Given the description of an element on the screen output the (x, y) to click on. 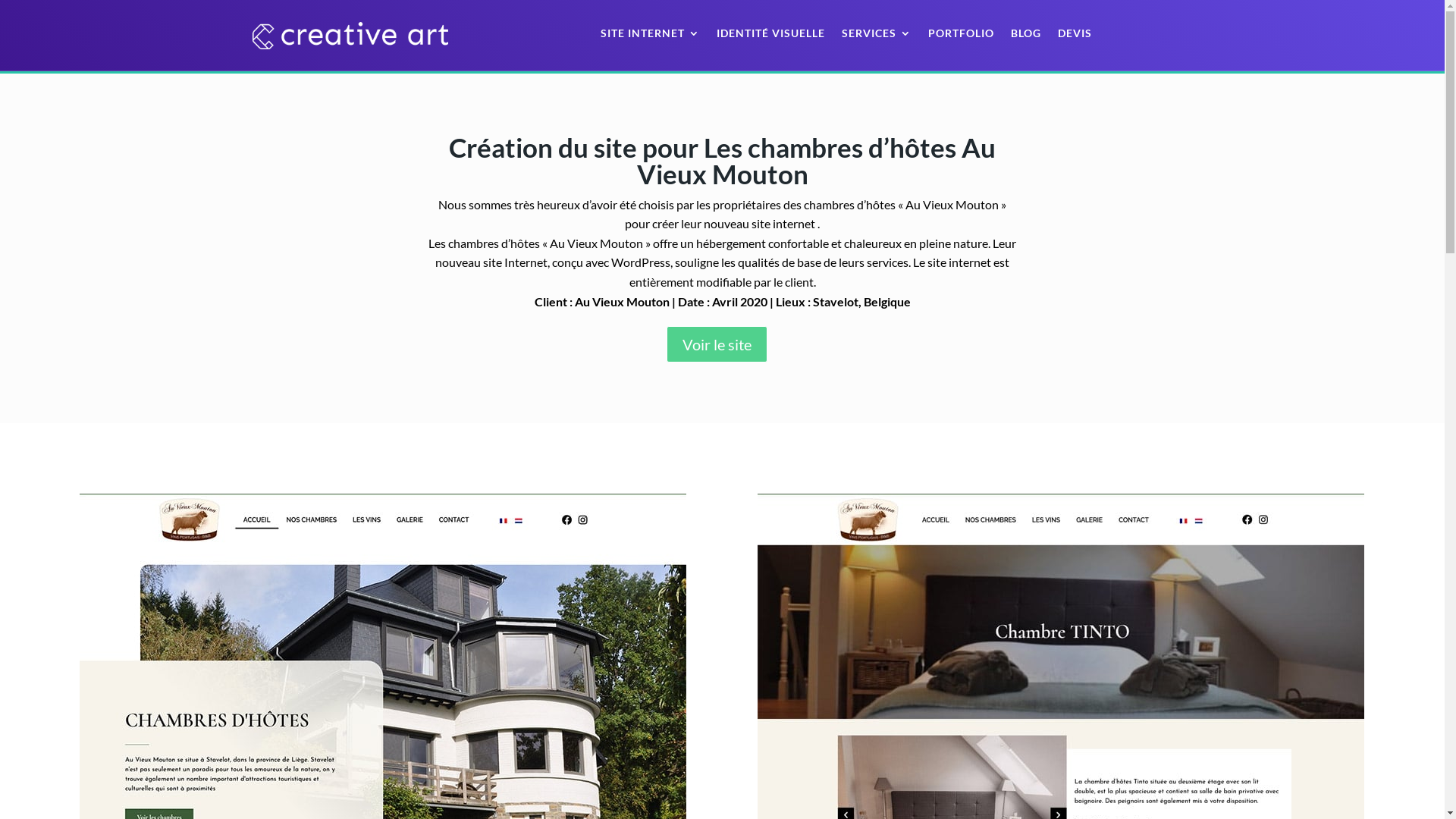
DEVIS Element type: text (1074, 36)
SITE INTERNET Element type: text (649, 36)
BLOG Element type: text (1025, 36)
logo-white Element type: hover (349, 34)
PORTFOLIO Element type: text (961, 36)
SERVICES Element type: text (876, 36)
Voir le site Element type: text (715, 344)
